Given the description of an element on the screen output the (x, y) to click on. 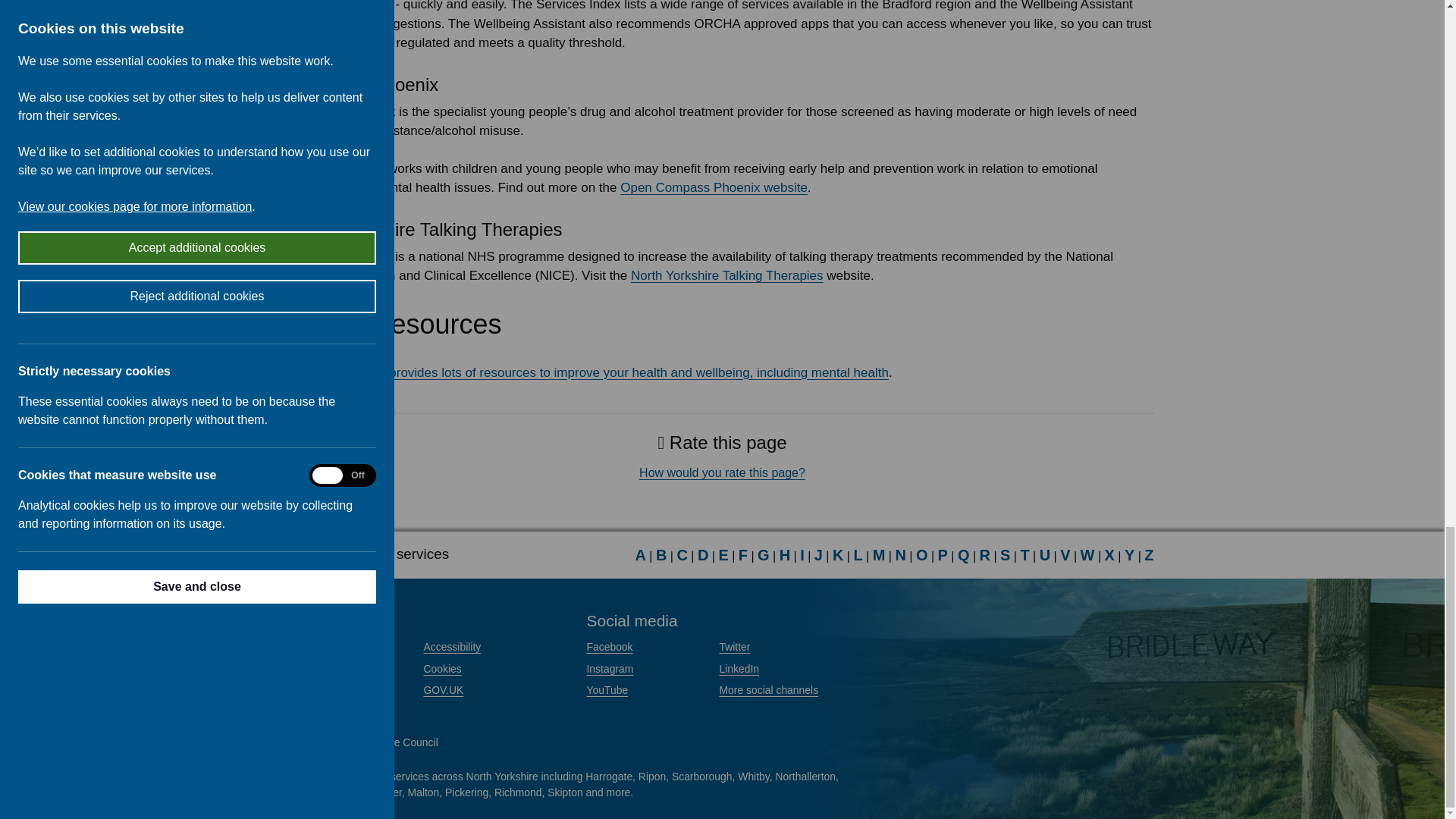
Help with health and wellbeing from your library (604, 372)
North Yorkshire Talking Therapies (727, 275)
Open Compass Phoenix website (714, 187)
How would you rate this page? (722, 472)
